Given the description of an element on the screen output the (x, y) to click on. 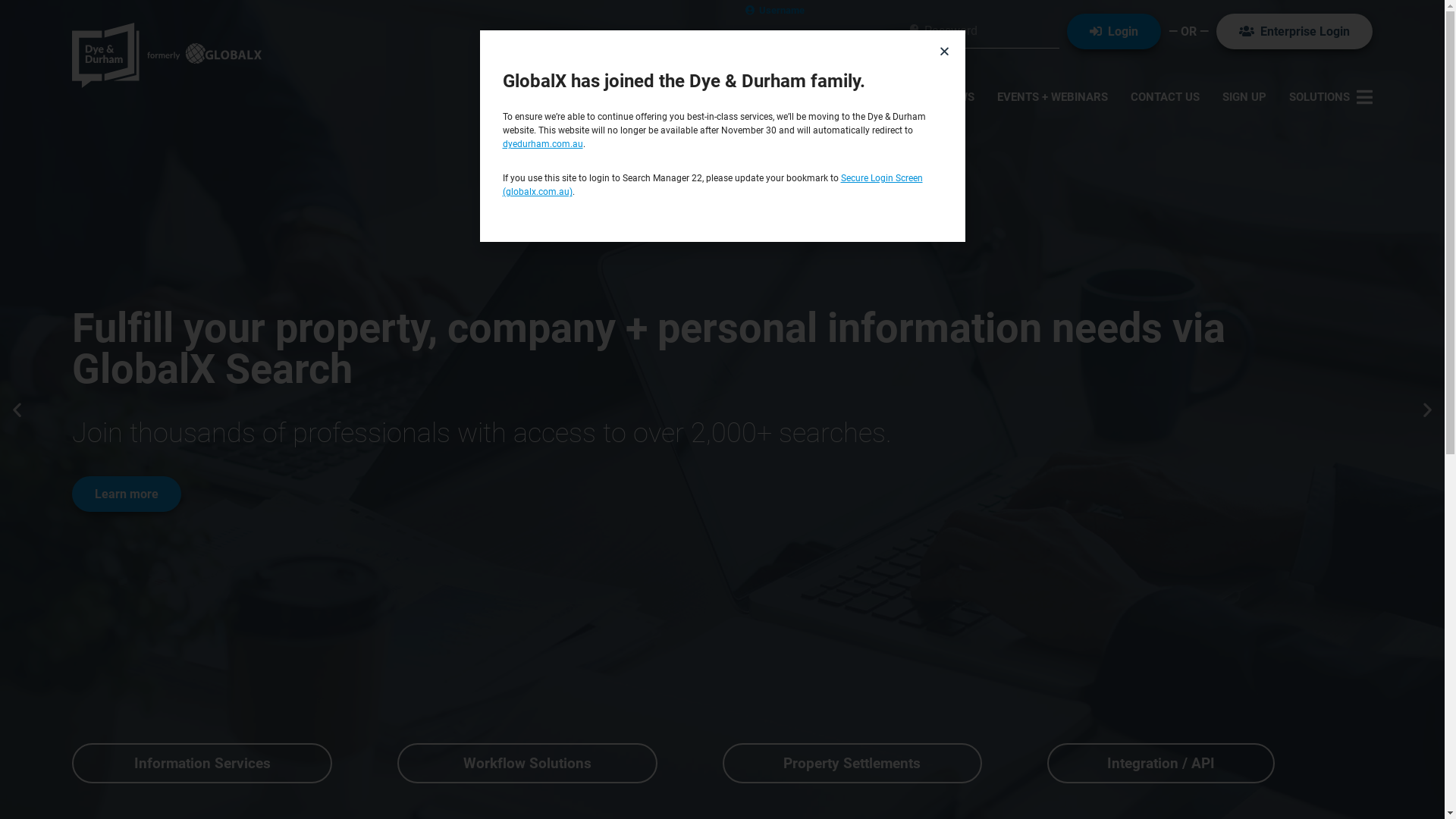
NEWS Element type: text (958, 96)
  Enterprise Login Element type: text (1294, 31)
EVENTS + WEBINARS Element type: text (1052, 96)
Information Services Element type: text (202, 763)
Integration / API Element type: text (1160, 763)
Watch video now! Element type: text (142, 472)
Property Settlements Element type: text (851, 763)
INTEGRATION / API Element type: text (783, 96)
SOLUTIONS Element type: text (1330, 96)
dyedurham.com.au Element type: text (542, 143)
  Login Element type: text (1113, 31)
Workflow Solutions Element type: text (527, 763)
Secure Login Screen (globalx.com.au) Element type: text (712, 184)
SIGN UP Element type: text (1244, 96)
INDUSTRIES Element type: text (888, 96)
CONTACT US Element type: text (1164, 96)
